Given the description of an element on the screen output the (x, y) to click on. 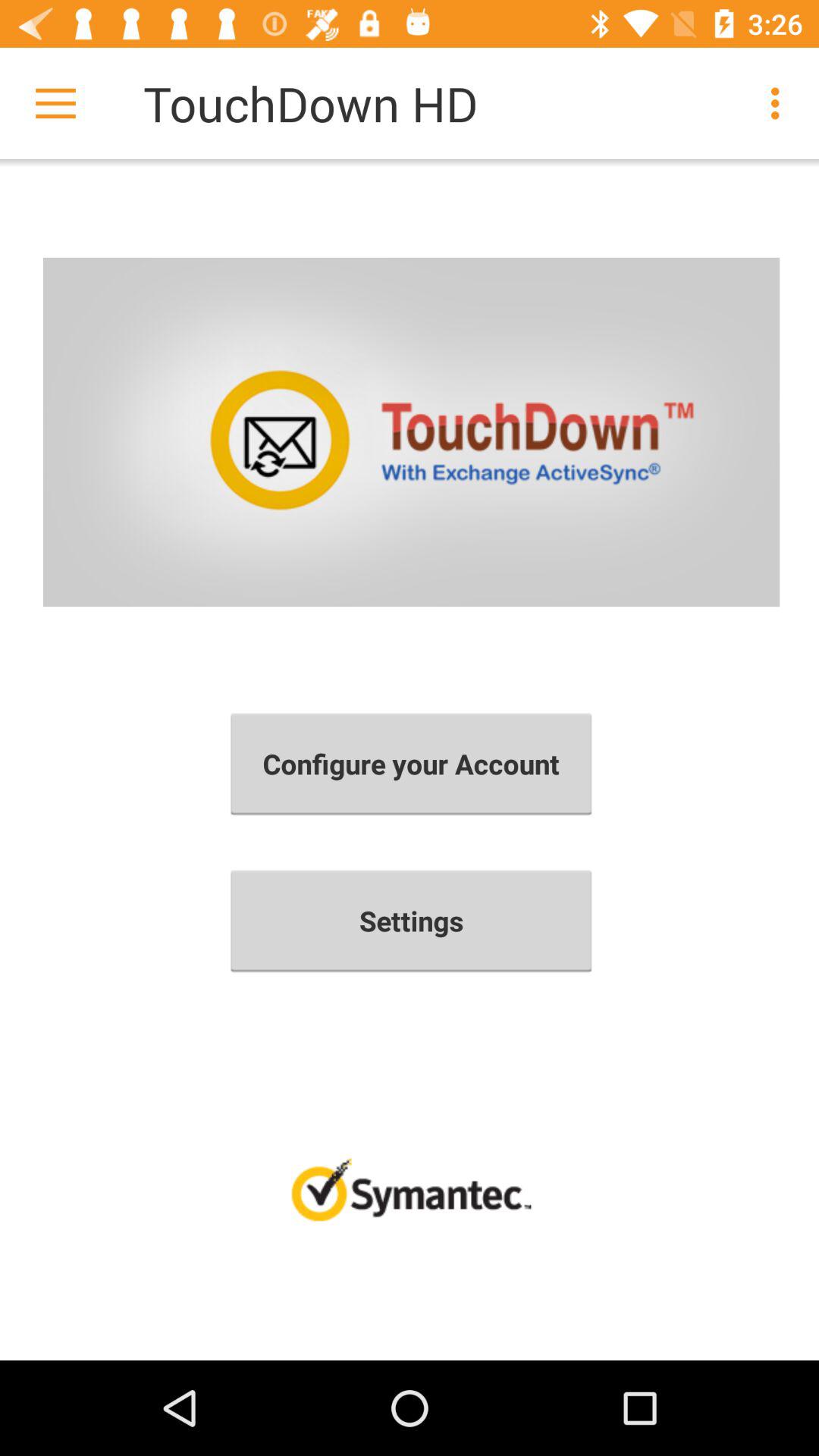
choose icon at the top right corner (779, 103)
